Given the description of an element on the screen output the (x, y) to click on. 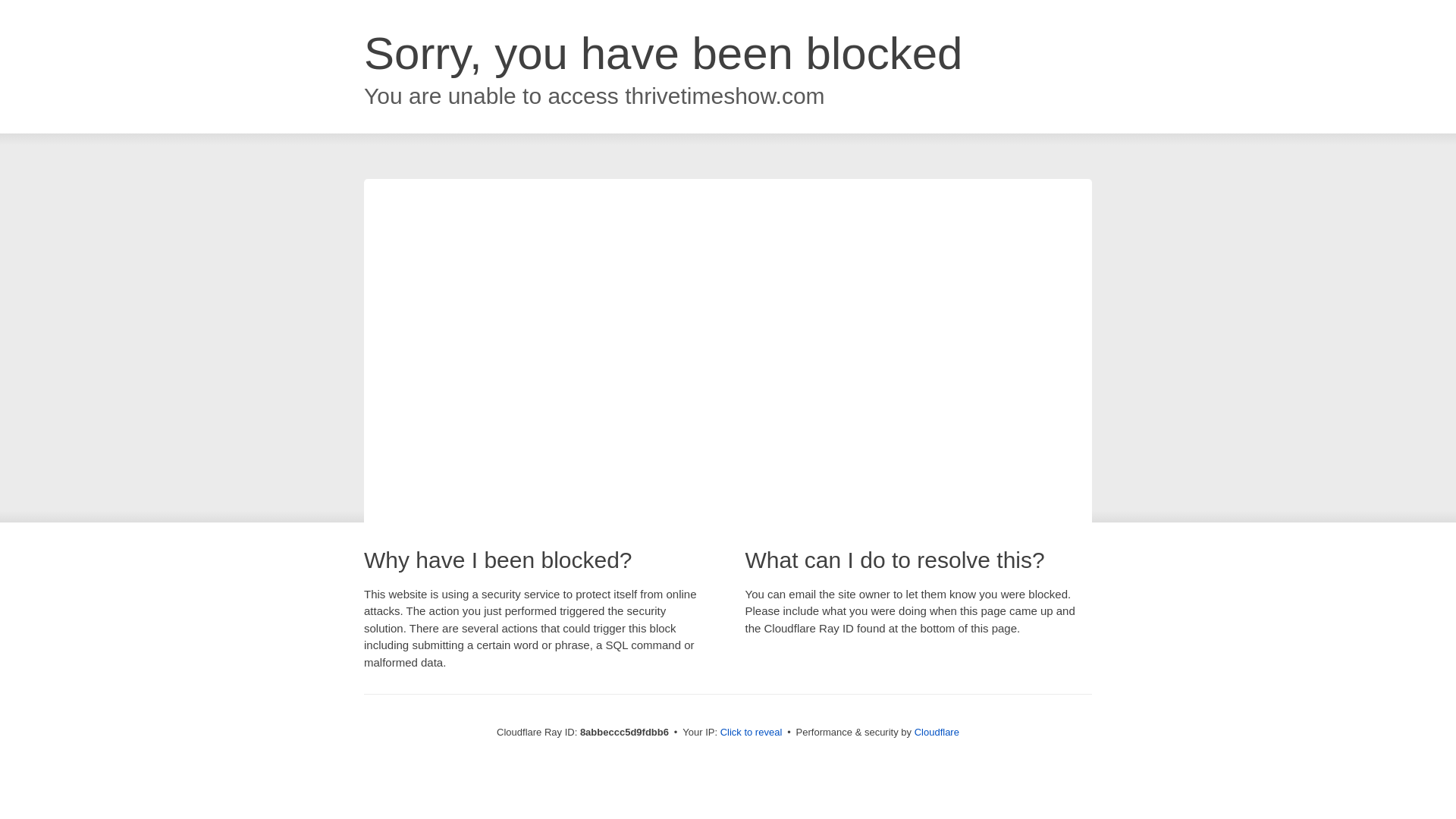
Cloudflare (936, 731)
Click to reveal (751, 732)
